Given the description of an element on the screen output the (x, y) to click on. 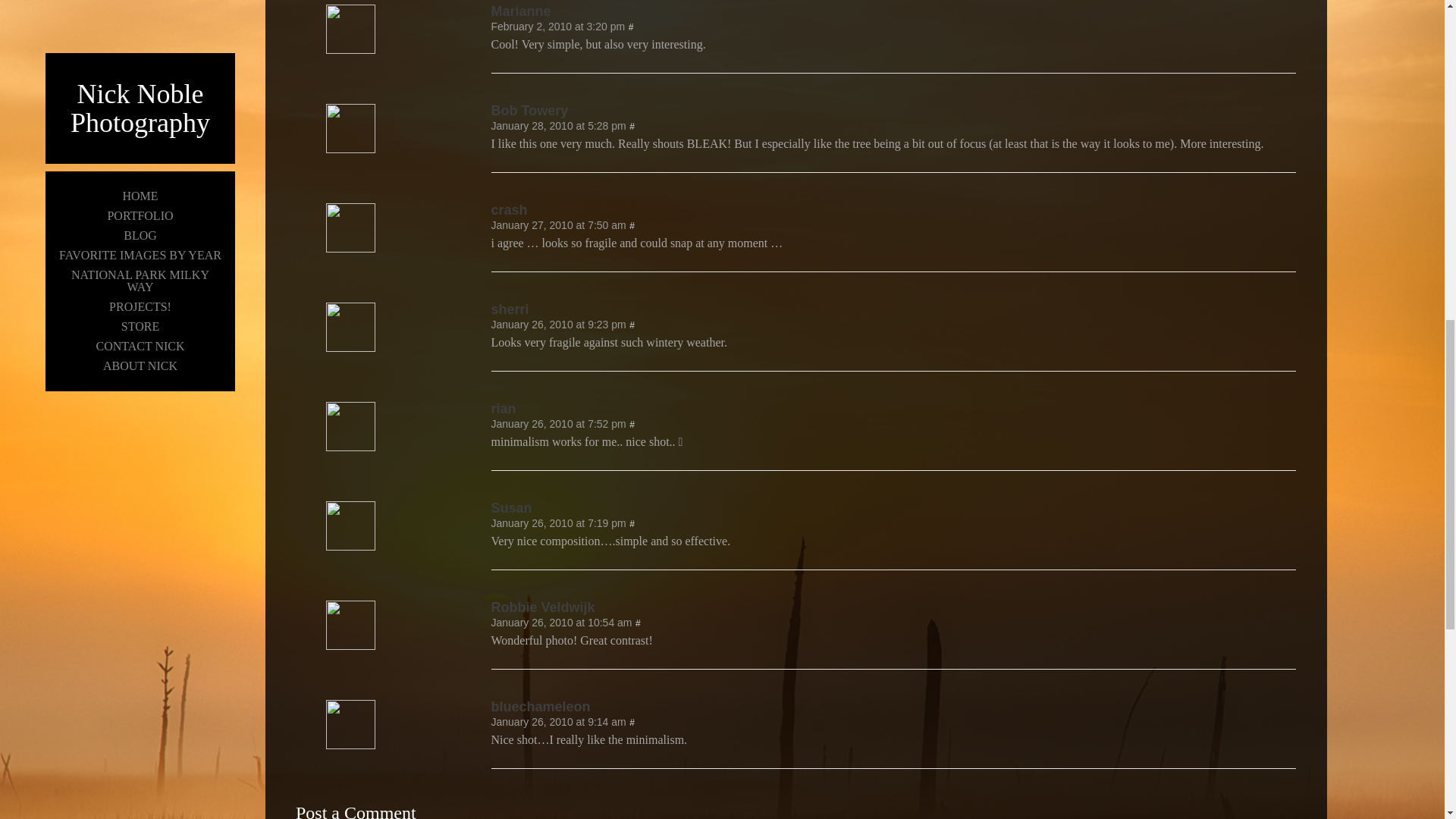
sherri (894, 309)
Susan (894, 508)
Comment Author (894, 11)
Comment Author (350, 347)
rian (894, 408)
Comment Author (894, 110)
Comment Author (350, 148)
Comment Author (894, 309)
Bob Towery (894, 110)
Comment Author (350, 247)
